Given the description of an element on the screen output the (x, y) to click on. 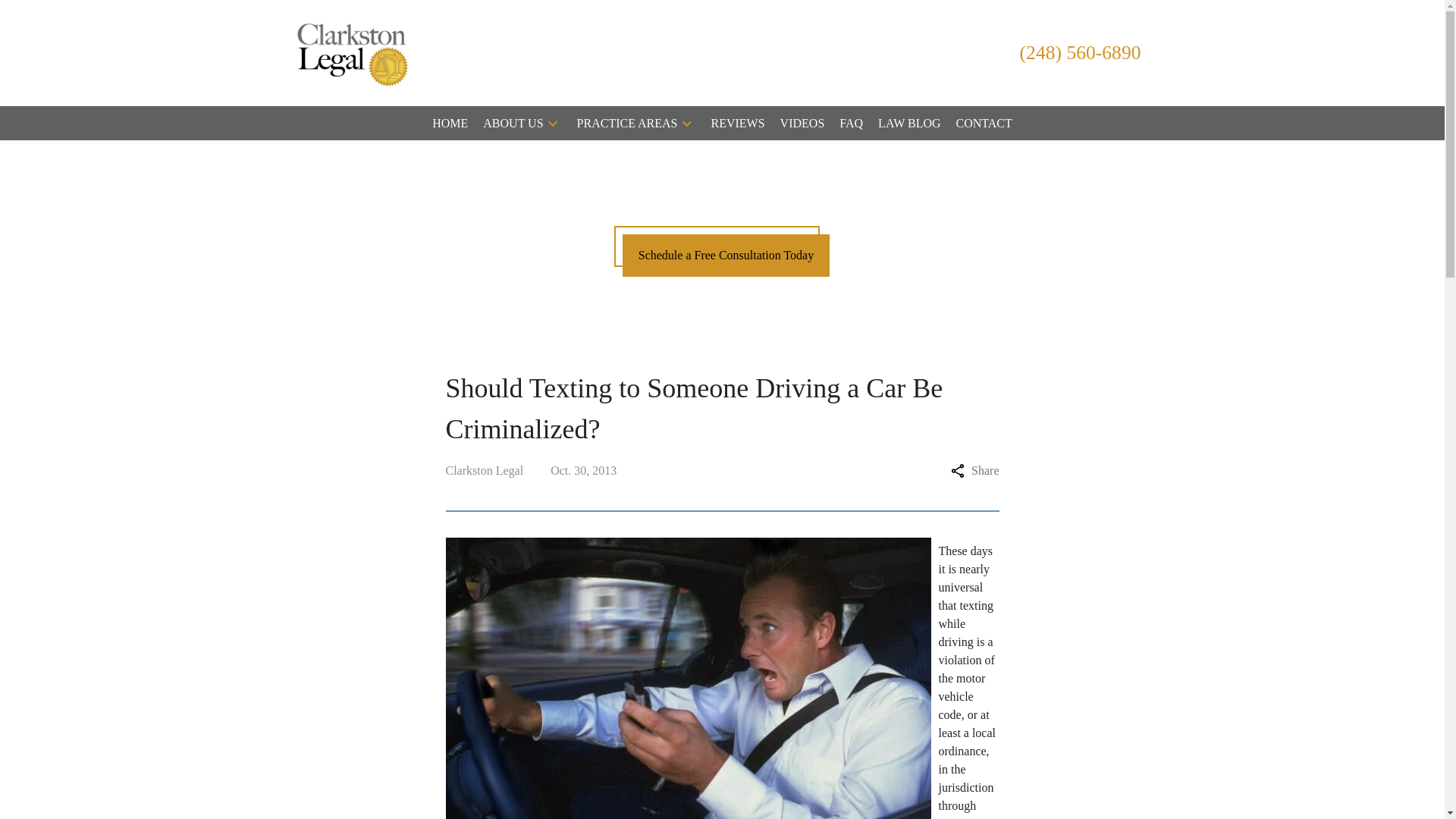
PRACTICE AREAS (627, 123)
ABOUT US (513, 123)
HOME (449, 123)
